Given the description of an element on the screen output the (x, y) to click on. 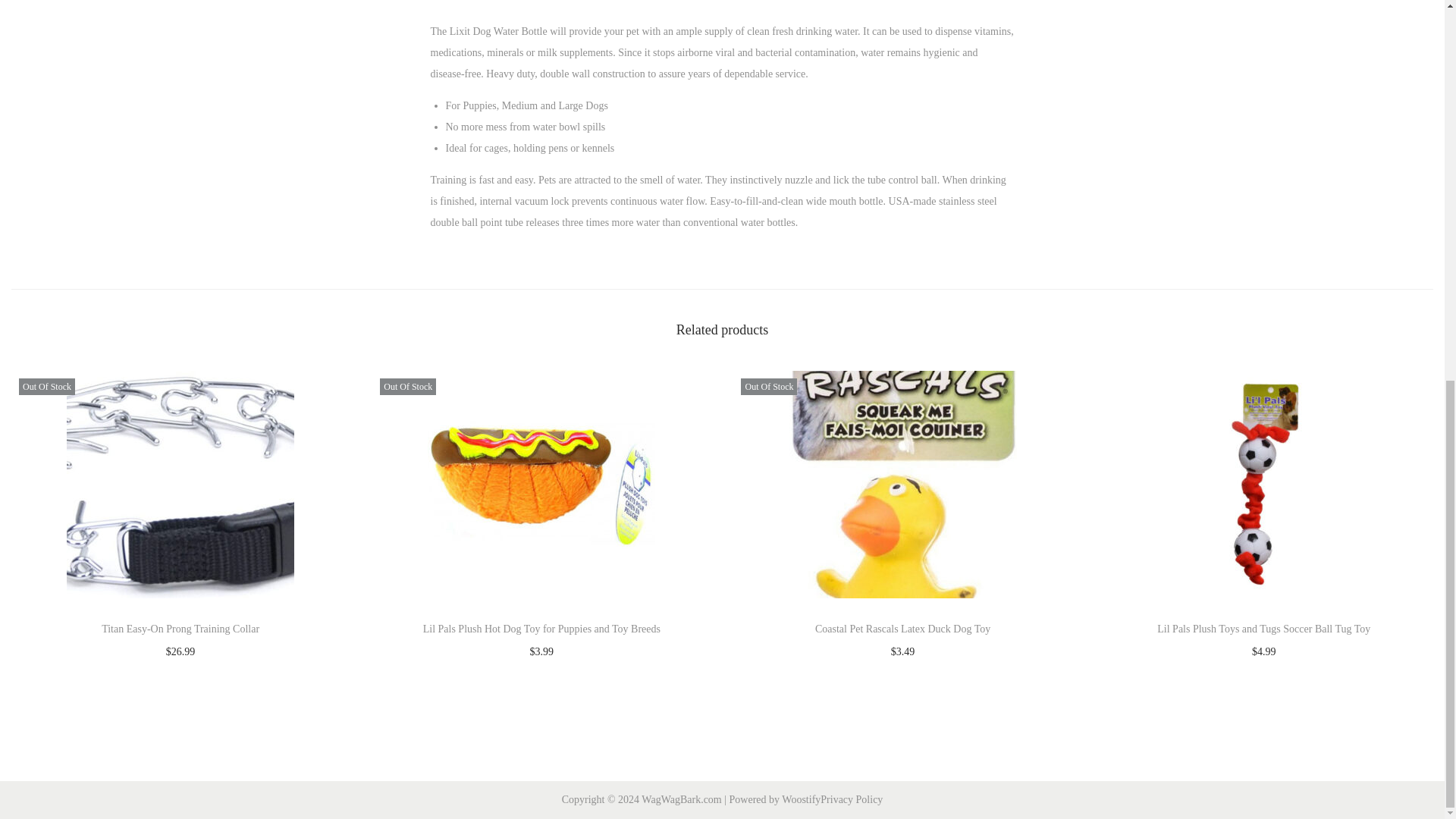
Titan Easy-On Prong Training Collar (180, 628)
Lil Pals Plush Hot Dog Toy for Puppies and Toy Breeds (542, 628)
Additional information (777, 1)
Description (635, 1)
